Given the description of an element on the screen output the (x, y) to click on. 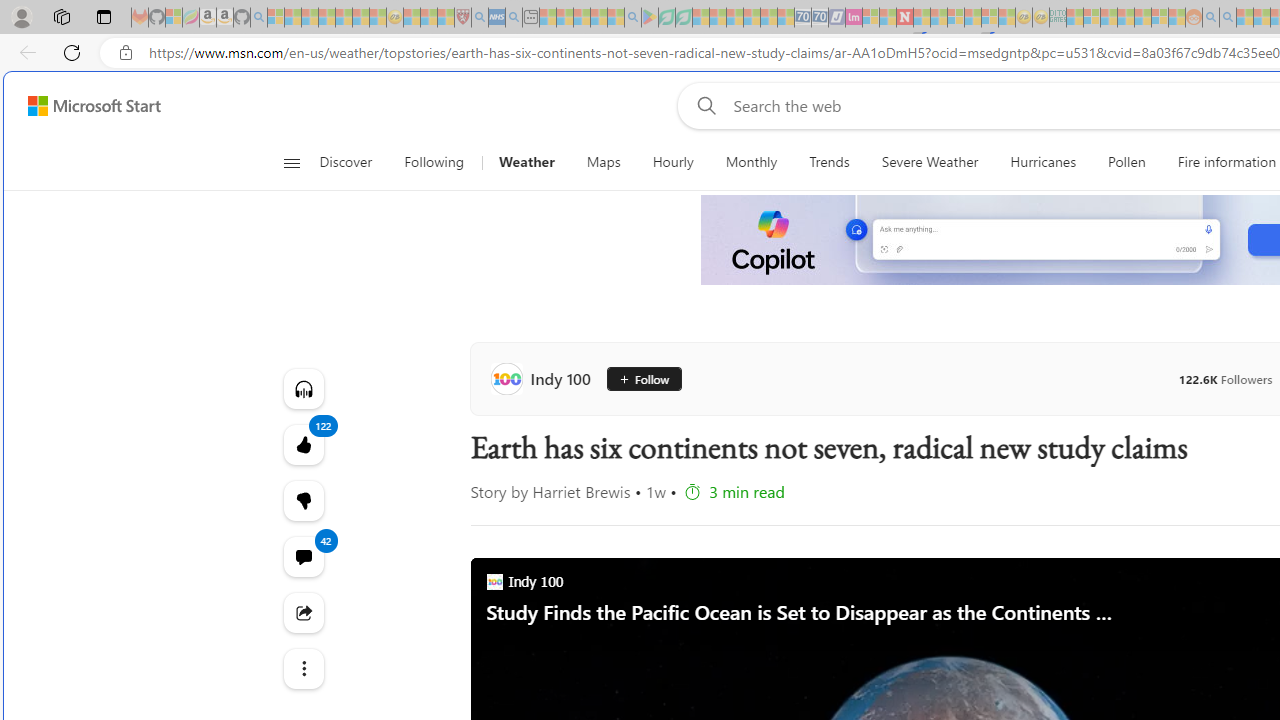
Trends (829, 162)
Kinda Frugal - MSN - Sleeping (1142, 17)
Bluey: Let's Play! - Apps on Google Play - Sleeping (649, 17)
